Given the description of an element on the screen output the (x, y) to click on. 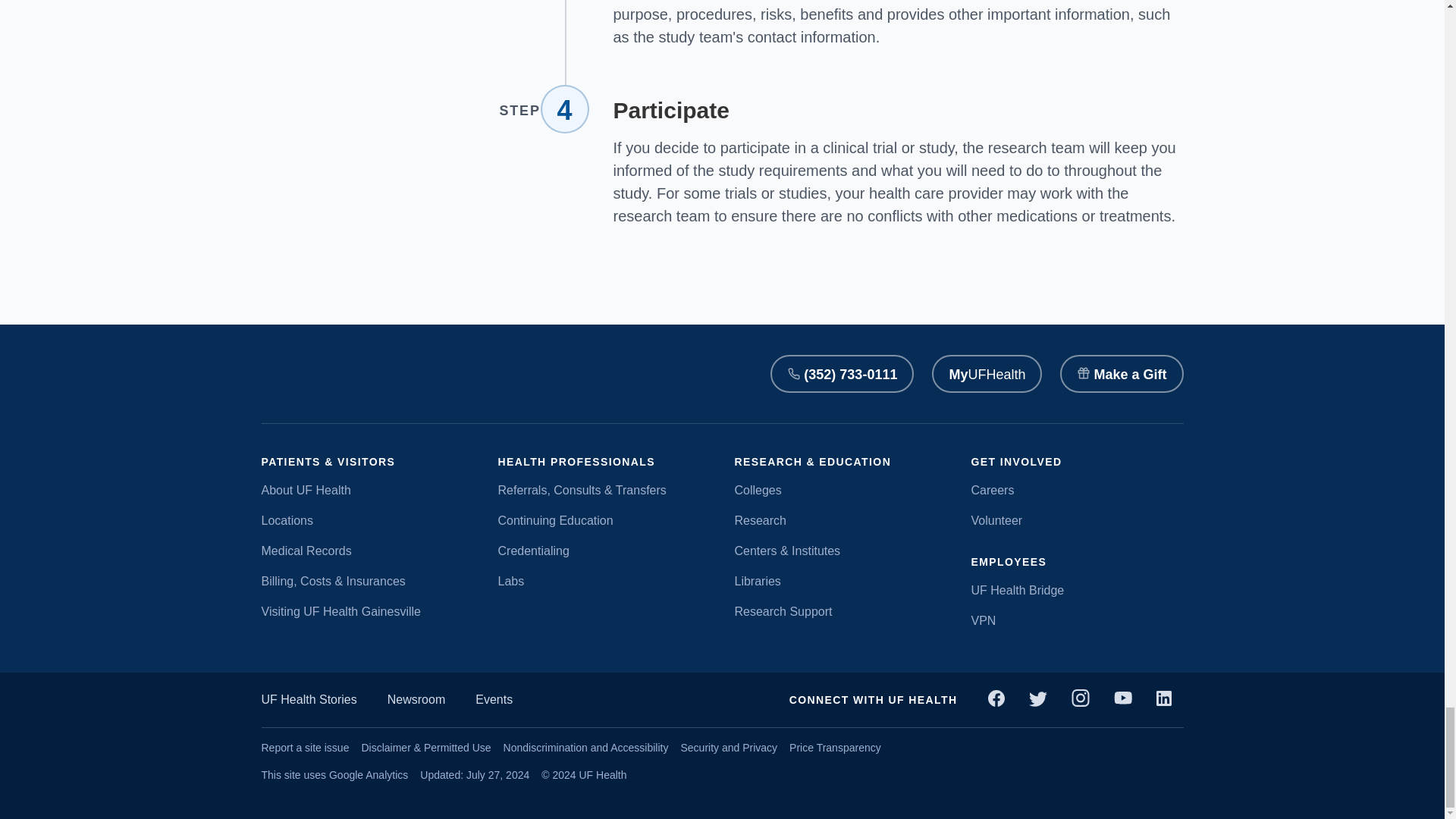
University of Florida (452, 373)
Medical Records (366, 550)
Colleges (839, 489)
Visiting UF Health Gainesville (366, 610)
Locations (366, 520)
Labs (603, 580)
About UF Health (366, 489)
University of Florida Health (310, 373)
MyUFHealth (986, 373)
Continuing Education (603, 520)
Make a Gift (1120, 373)
Credentialing (603, 550)
